Given the description of an element on the screen output the (x, y) to click on. 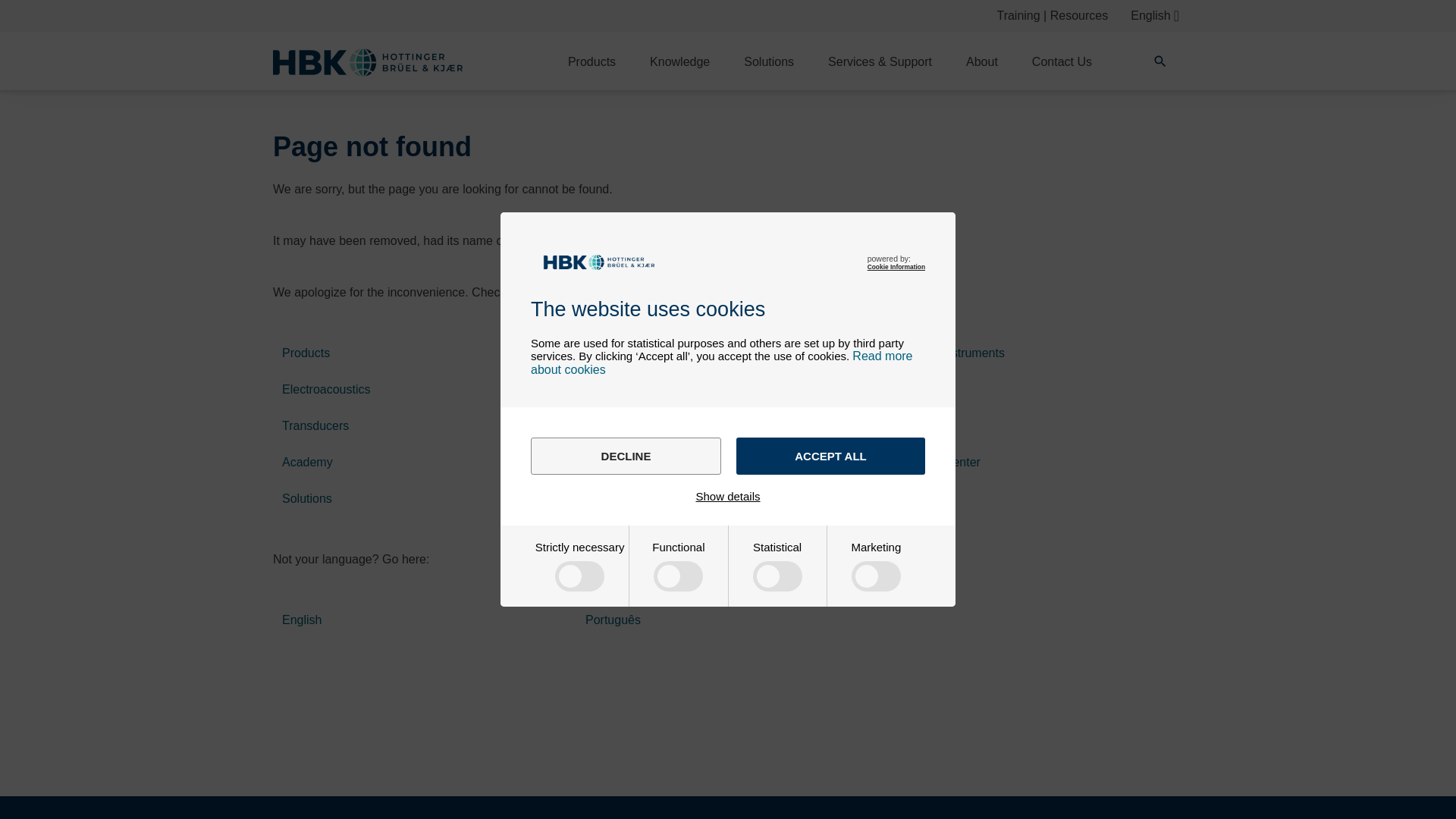
Show details (727, 495)
Read more about cookies (721, 362)
Cookie Information (895, 266)
ACCEPT ALL (830, 456)
DECLINE (625, 456)
